Given the description of an element on the screen output the (x, y) to click on. 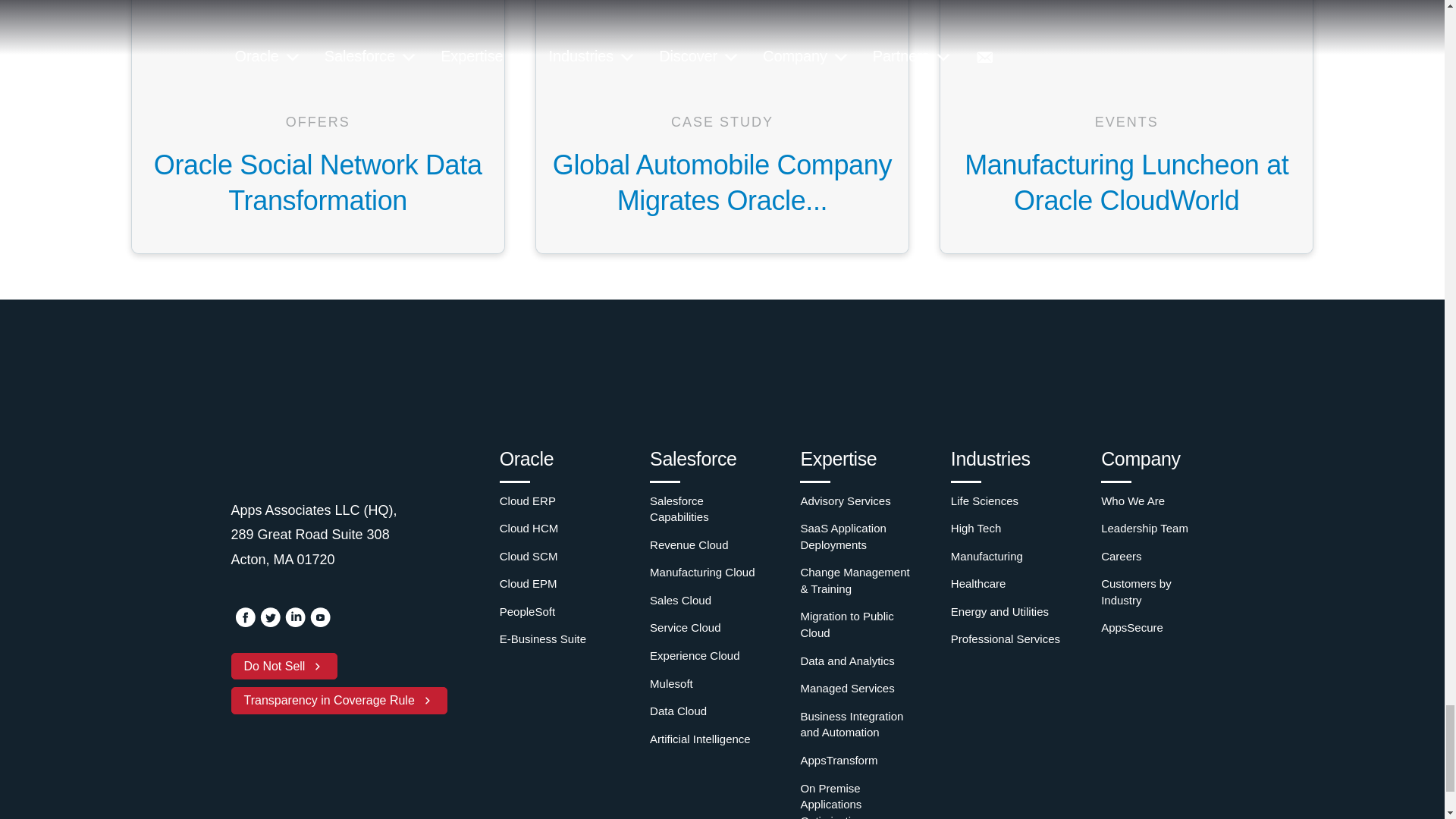
YouTube (319, 622)
LinkedIn (295, 622)
Twitter (269, 622)
Facebook (244, 622)
